Given the description of an element on the screen output the (x, y) to click on. 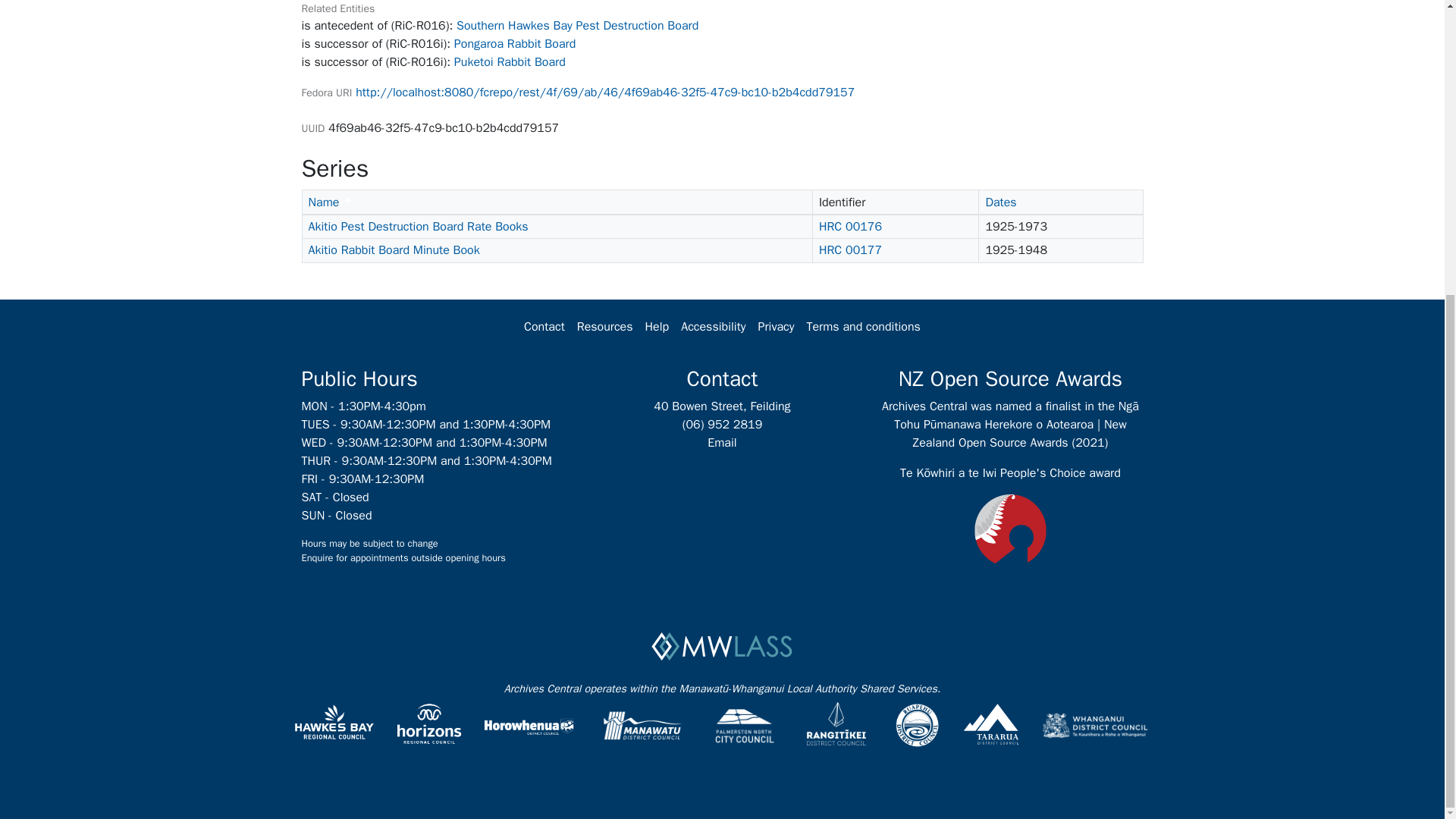
Akitio Rabbit Board Minute Book (393, 249)
Privacy (775, 327)
sort by Name (330, 201)
Email (721, 442)
Terms and conditions (862, 327)
Resources (604, 327)
Dates (1000, 201)
Southern Hawkes Bay Pest Destruction Board (330, 201)
HRC 00176 (577, 25)
